Given the description of an element on the screen output the (x, y) to click on. 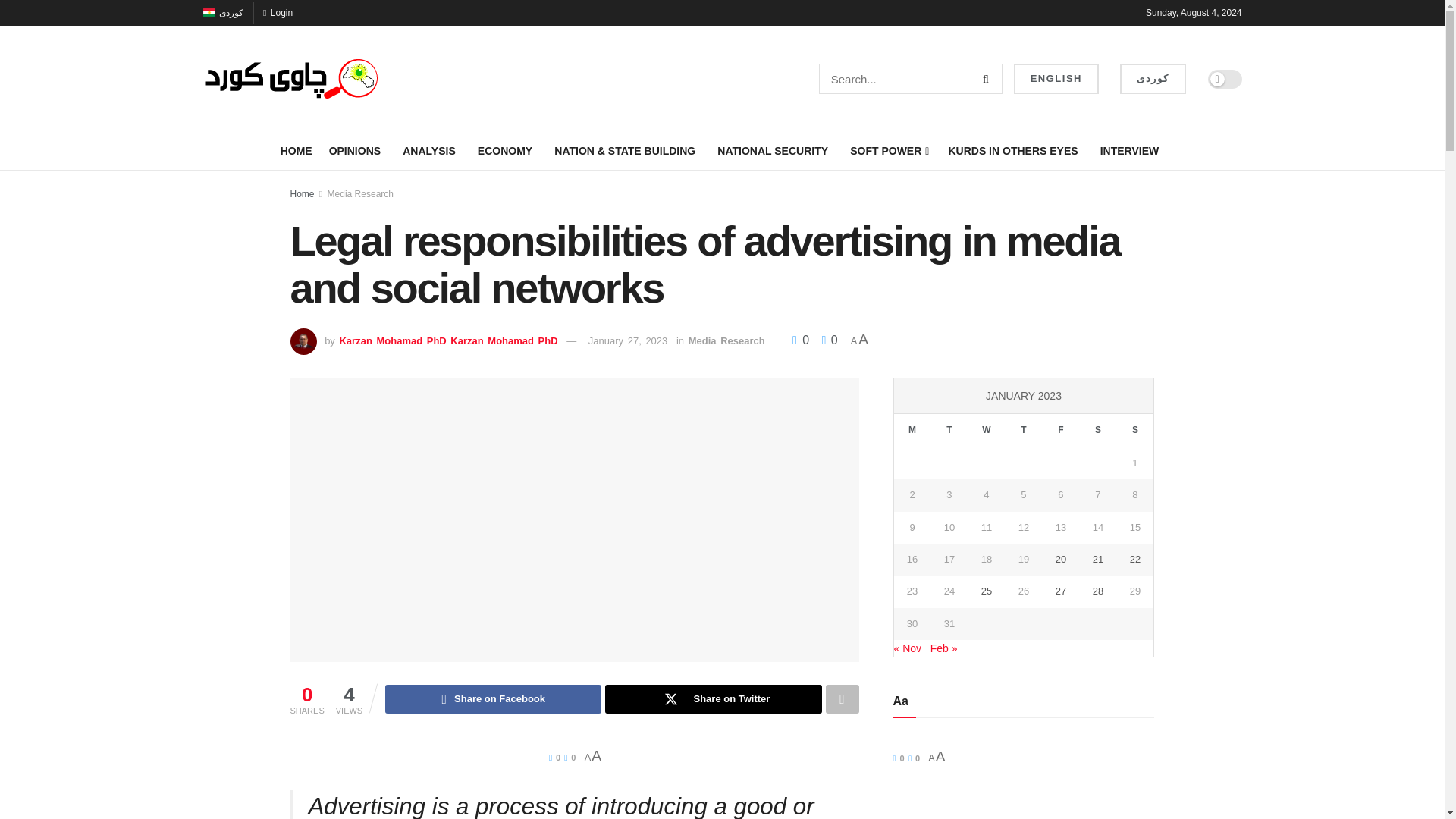
Friday (1060, 430)
Login (277, 12)
OPINIONS (358, 150)
Monday (911, 430)
ECONOMY (507, 150)
Saturday (1097, 430)
Sunday (1134, 430)
HOME (297, 150)
Wednesday (986, 430)
ENGLISH (1056, 78)
